Given the description of an element on the screen output the (x, y) to click on. 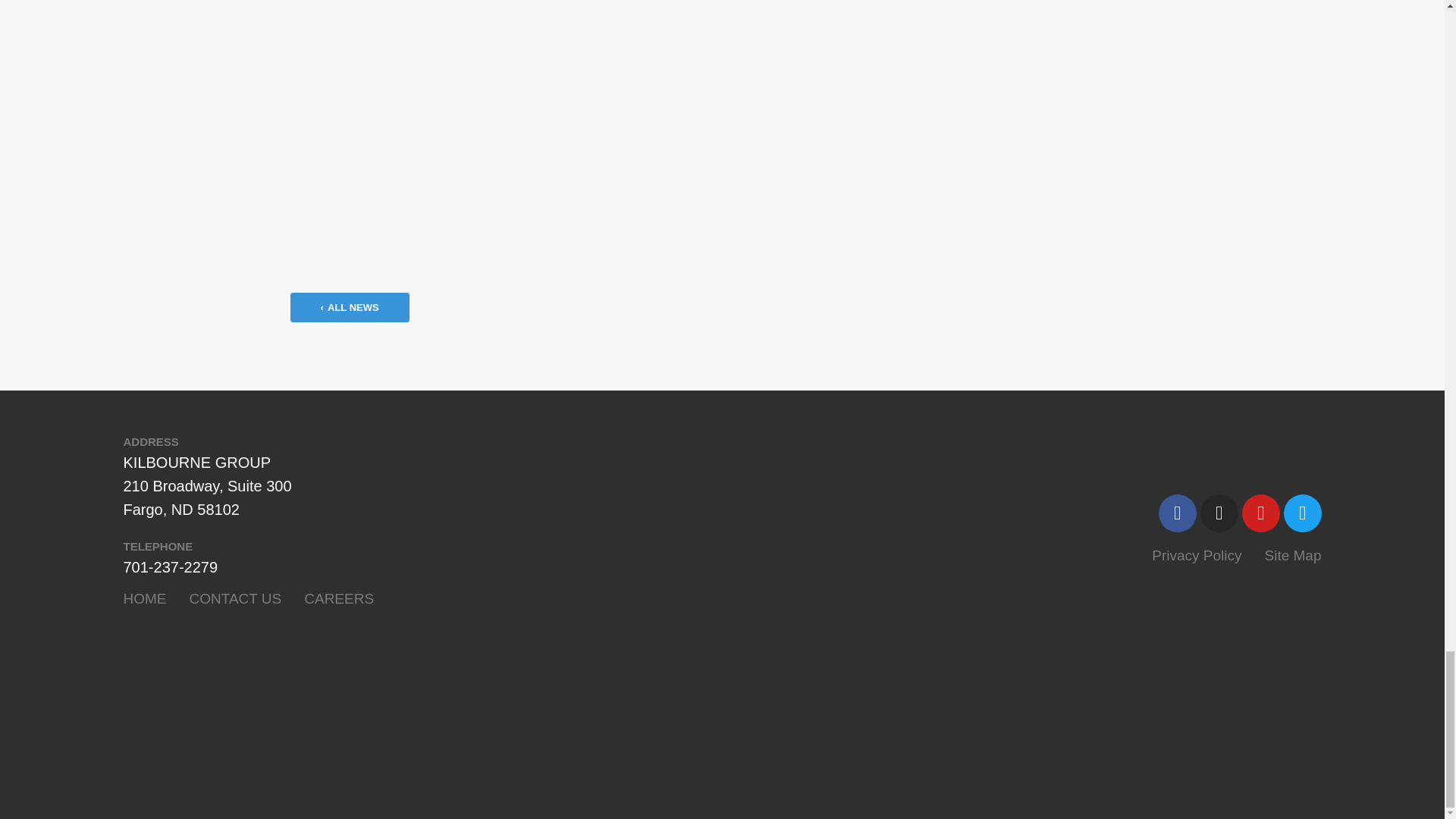
CONTACT US (235, 598)
ALL NEWS (349, 307)
701-237-2279 (169, 566)
CAREERS (339, 598)
HOME (143, 598)
